Given the description of an element on the screen output the (x, y) to click on. 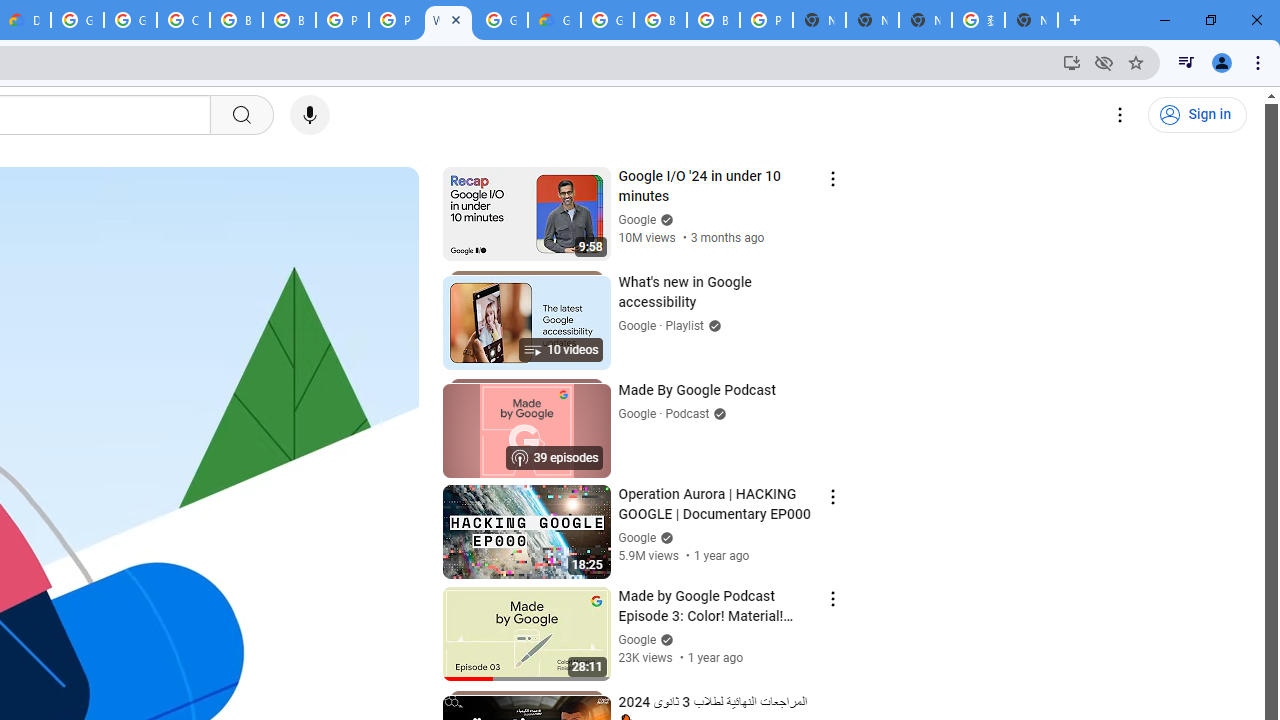
Search (240, 115)
